Given the description of an element on the screen output the (x, y) to click on. 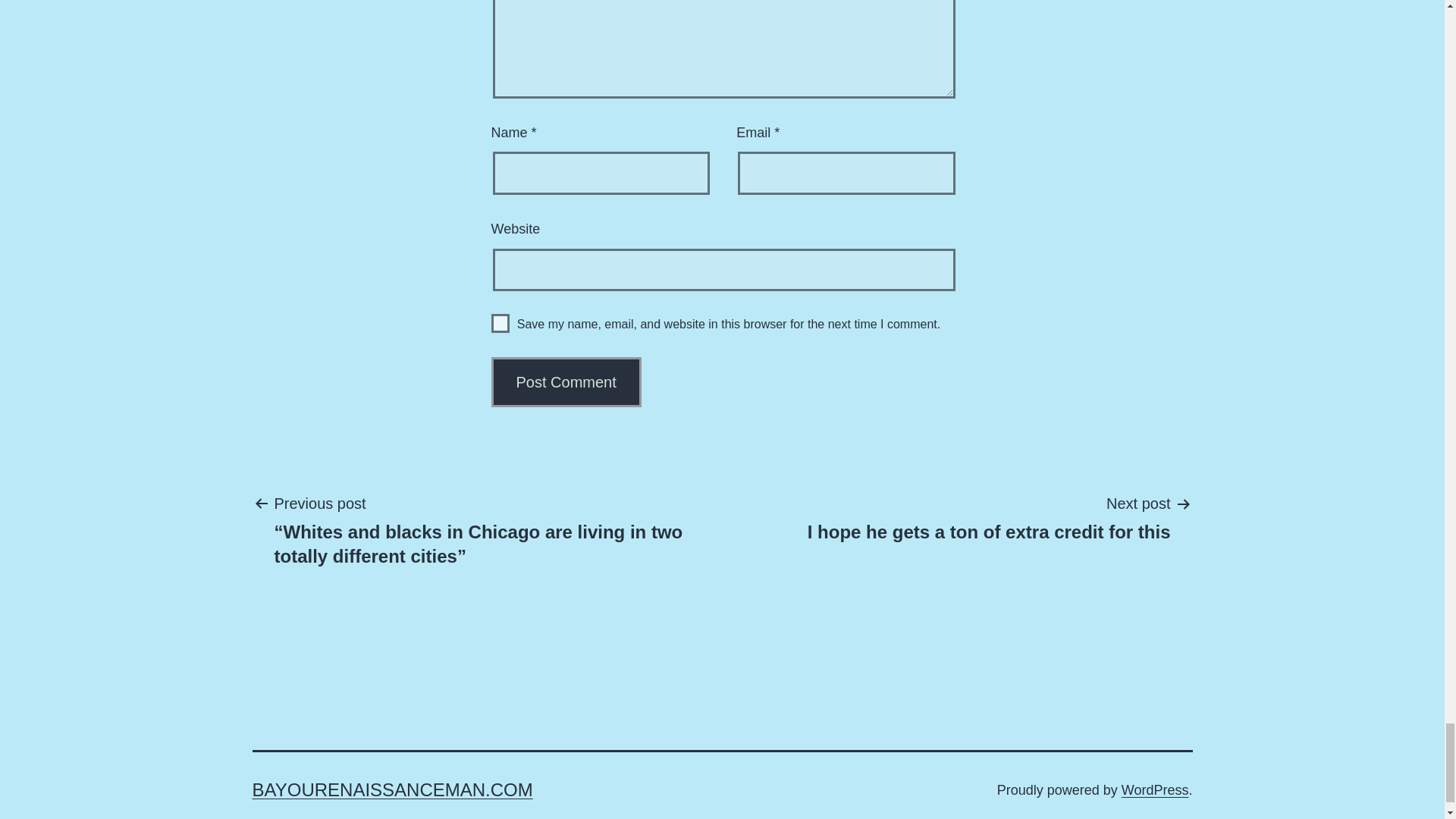
WordPress (1155, 789)
Post Comment (567, 382)
yes (500, 322)
BAYOURENAISSANCEMAN.COM (391, 789)
Post Comment (567, 382)
